Given the description of an element on the screen output the (x, y) to click on. 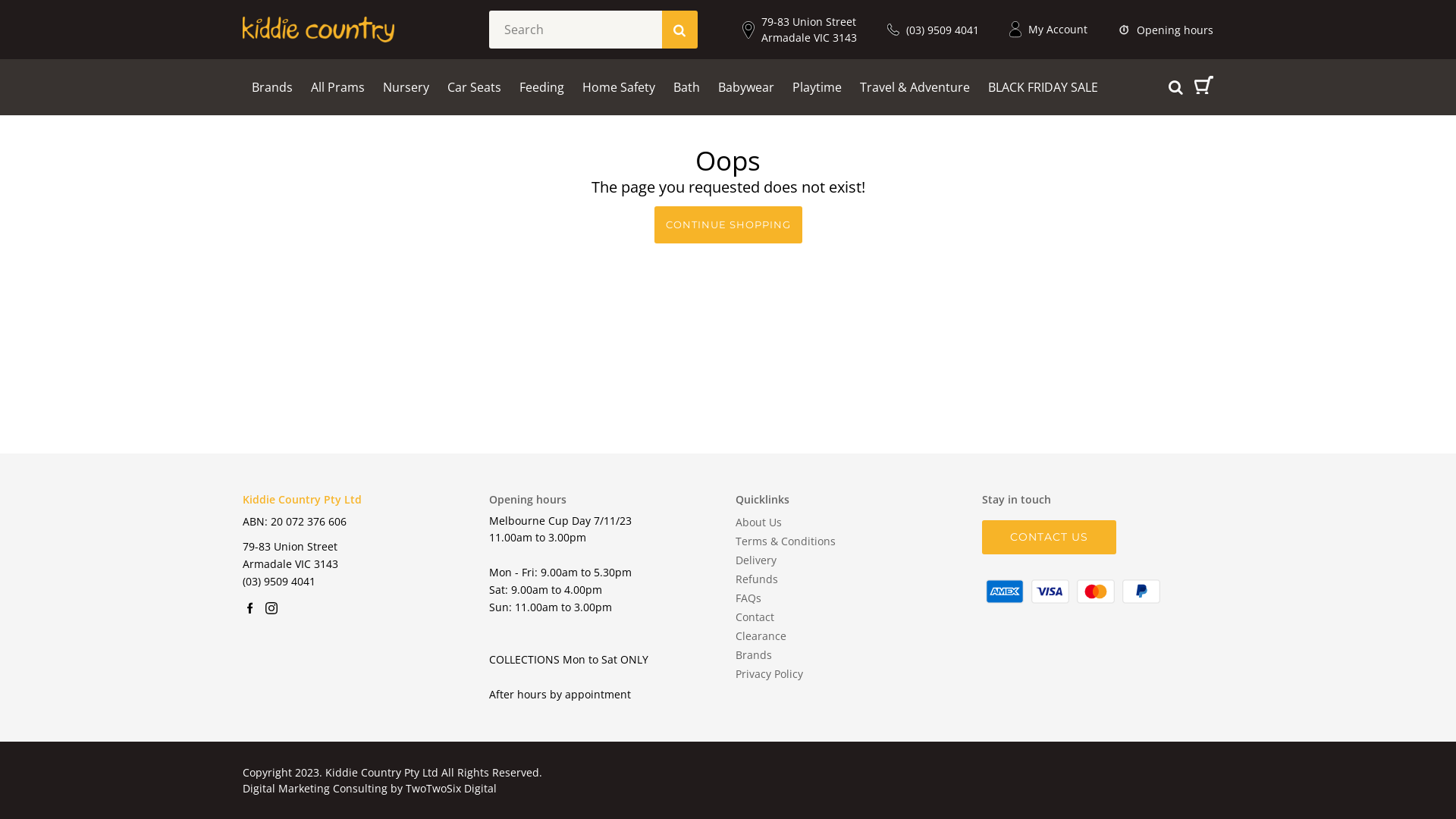
Home Safety Element type: text (618, 87)
Terms & Conditions Element type: text (785, 540)
Feeding Element type: text (541, 87)
All Prams Element type: text (337, 87)
Nursery Element type: text (405, 87)
Clearance Element type: text (760, 635)
Car Seats Element type: text (474, 87)
Refunds Element type: text (756, 578)
CONTINUE SHOPPING Element type: text (727, 225)
FAQs Element type: text (748, 597)
TwoTwoSix Digital Element type: text (450, 788)
Bath Element type: text (686, 87)
Travel & Adventure Element type: text (914, 87)
About Us Element type: text (758, 521)
(03) 9509 4041 Element type: text (278, 581)
Playtime Element type: text (816, 87)
Delivery Element type: text (755, 559)
Instagram Element type: text (271, 607)
My Account Element type: text (1048, 28)
Privacy Policy Element type: text (769, 673)
Facebook Element type: text (249, 607)
Brands Element type: text (271, 87)
BLACK FRIDAY SALE Element type: text (1043, 87)
Babywear Element type: text (746, 87)
CONTACT US Element type: text (1049, 537)
Search Element type: text (1244, 184)
Contact Element type: text (754, 616)
79-83 Union Street
Armadale VIC 3143 Element type: text (799, 29)
(03) 9509 4041 Element type: text (933, 28)
Brands Element type: text (753, 654)
Opening hours Element type: text (1165, 28)
